Given the description of an element on the screen output the (x, y) to click on. 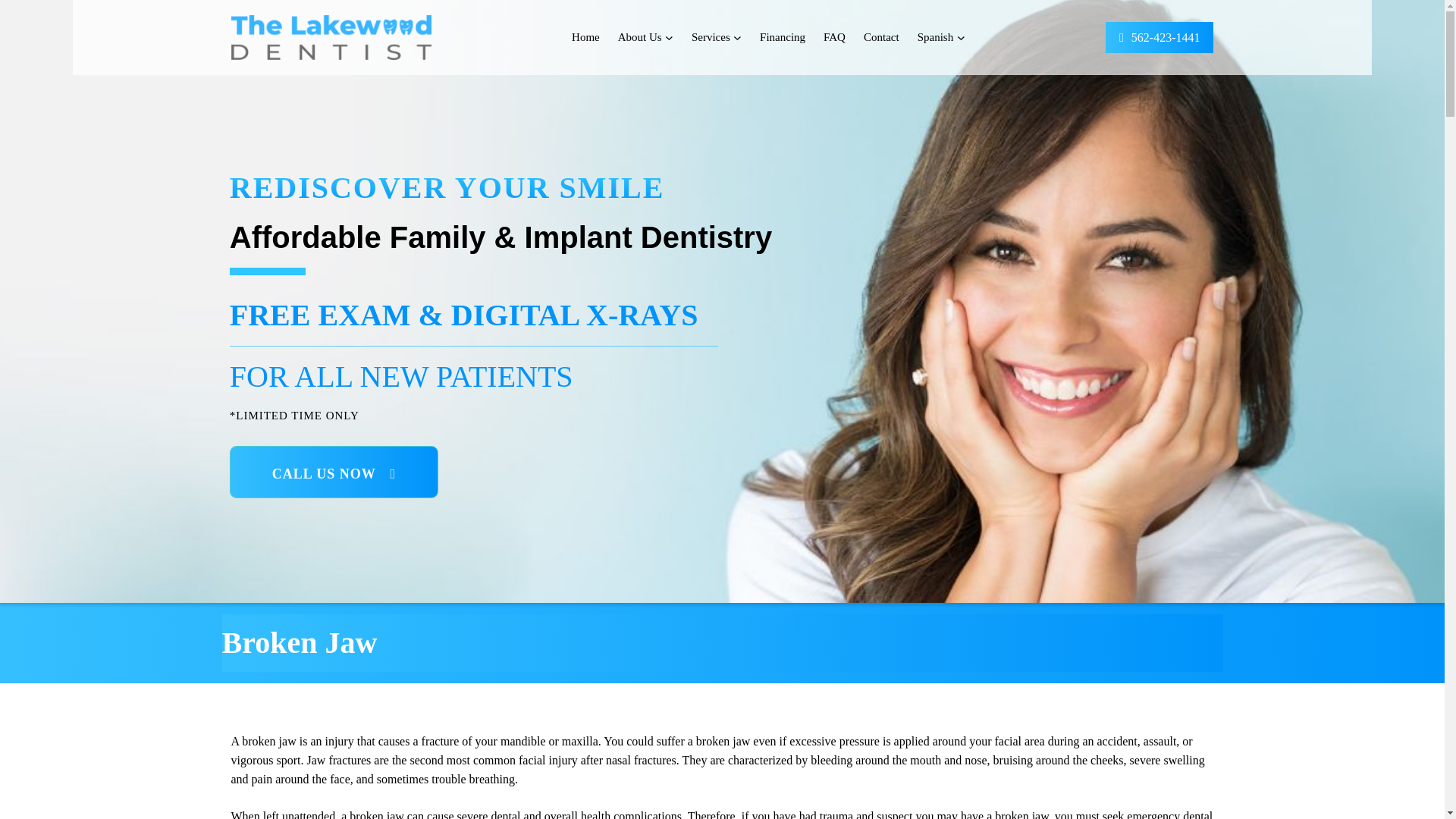
About Us (639, 37)
Services (710, 37)
Home (585, 37)
